Given the description of an element on the screen output the (x, y) to click on. 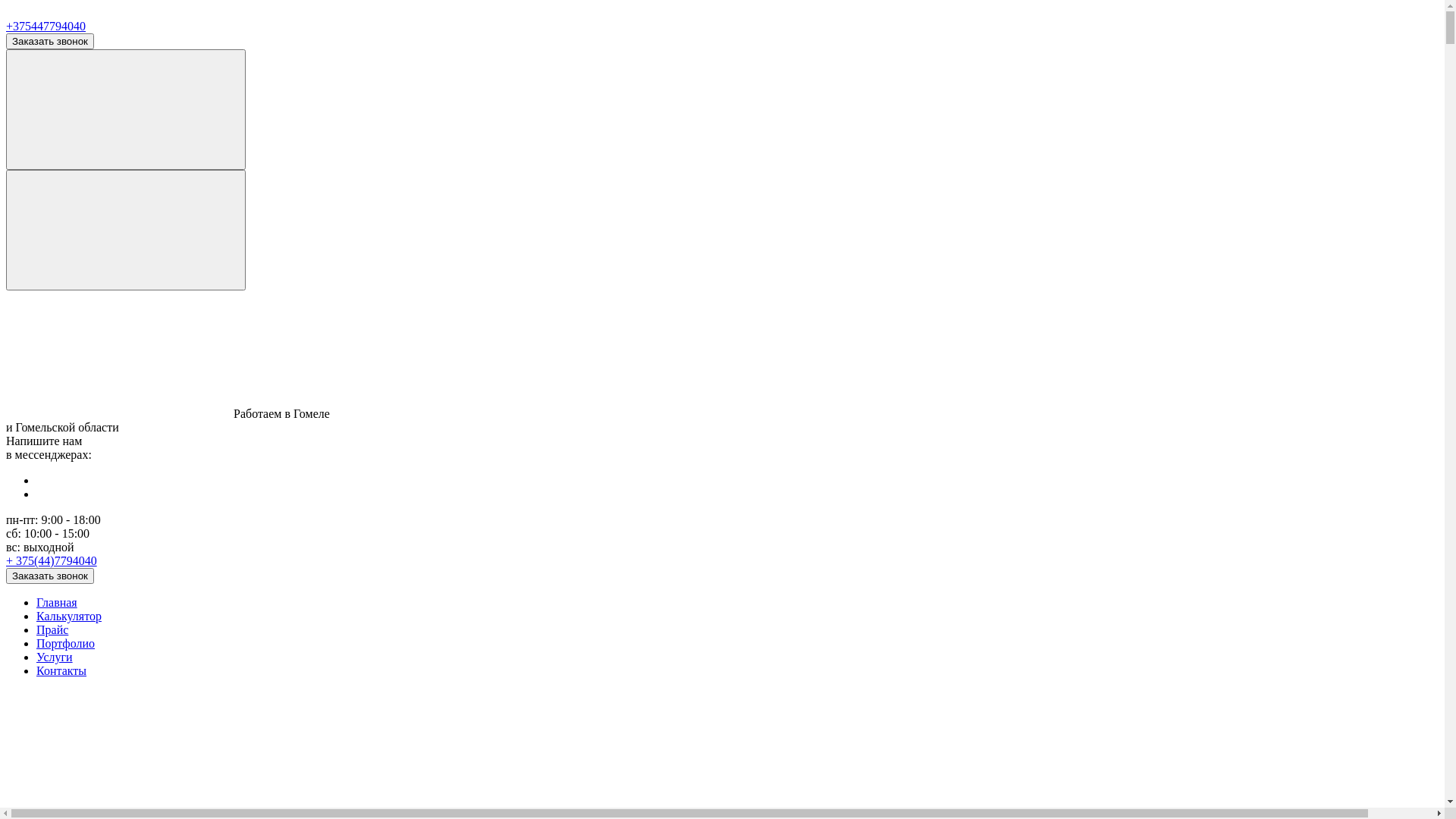
+ 375(44)7794040 Element type: text (51, 560)
+375447794040 Element type: text (45, 25)
